Given the description of an element on the screen output the (x, y) to click on. 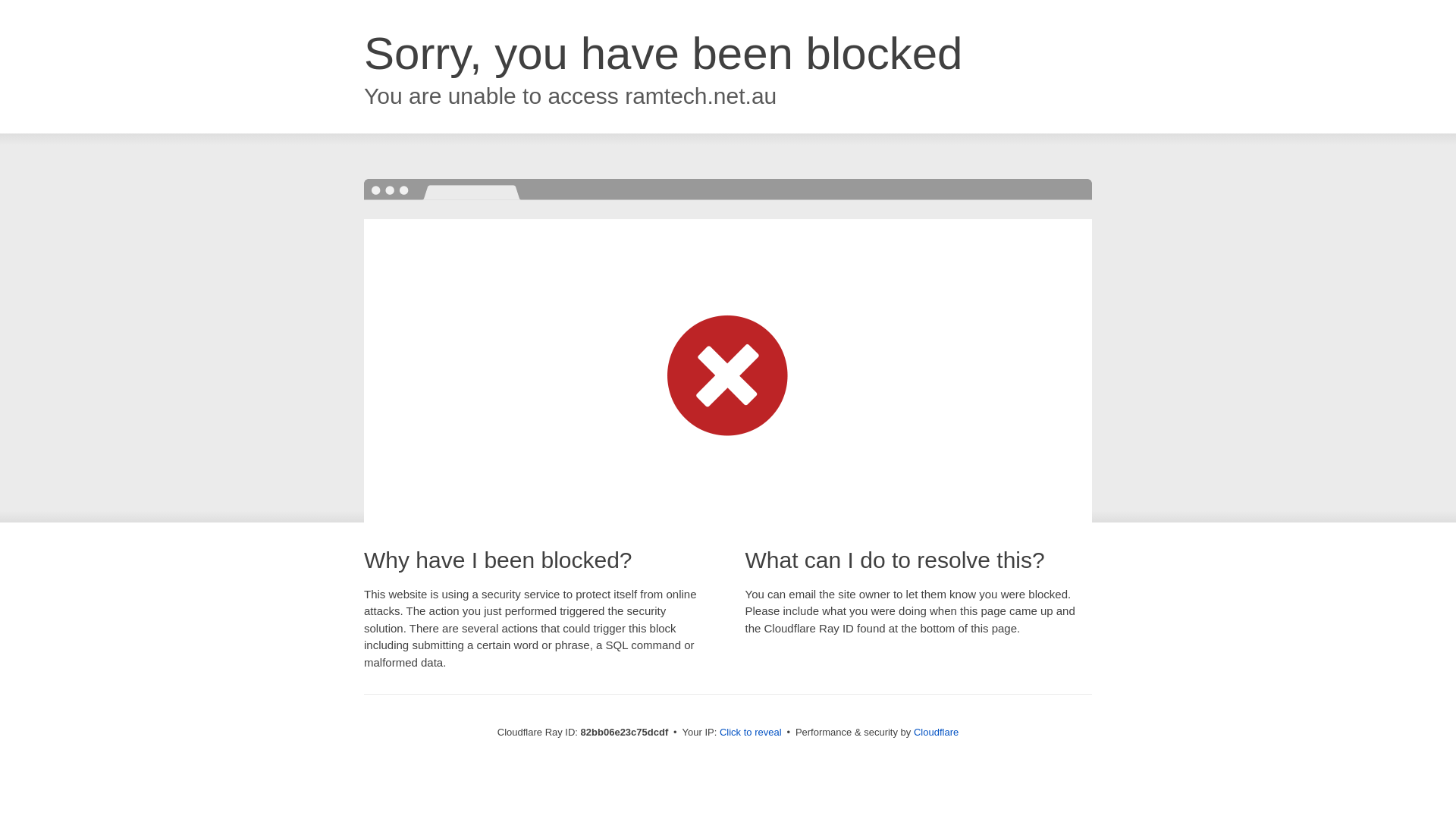
Cloudflare Element type: text (935, 731)
Click to reveal Element type: text (750, 732)
